Given the description of an element on the screen output the (x, y) to click on. 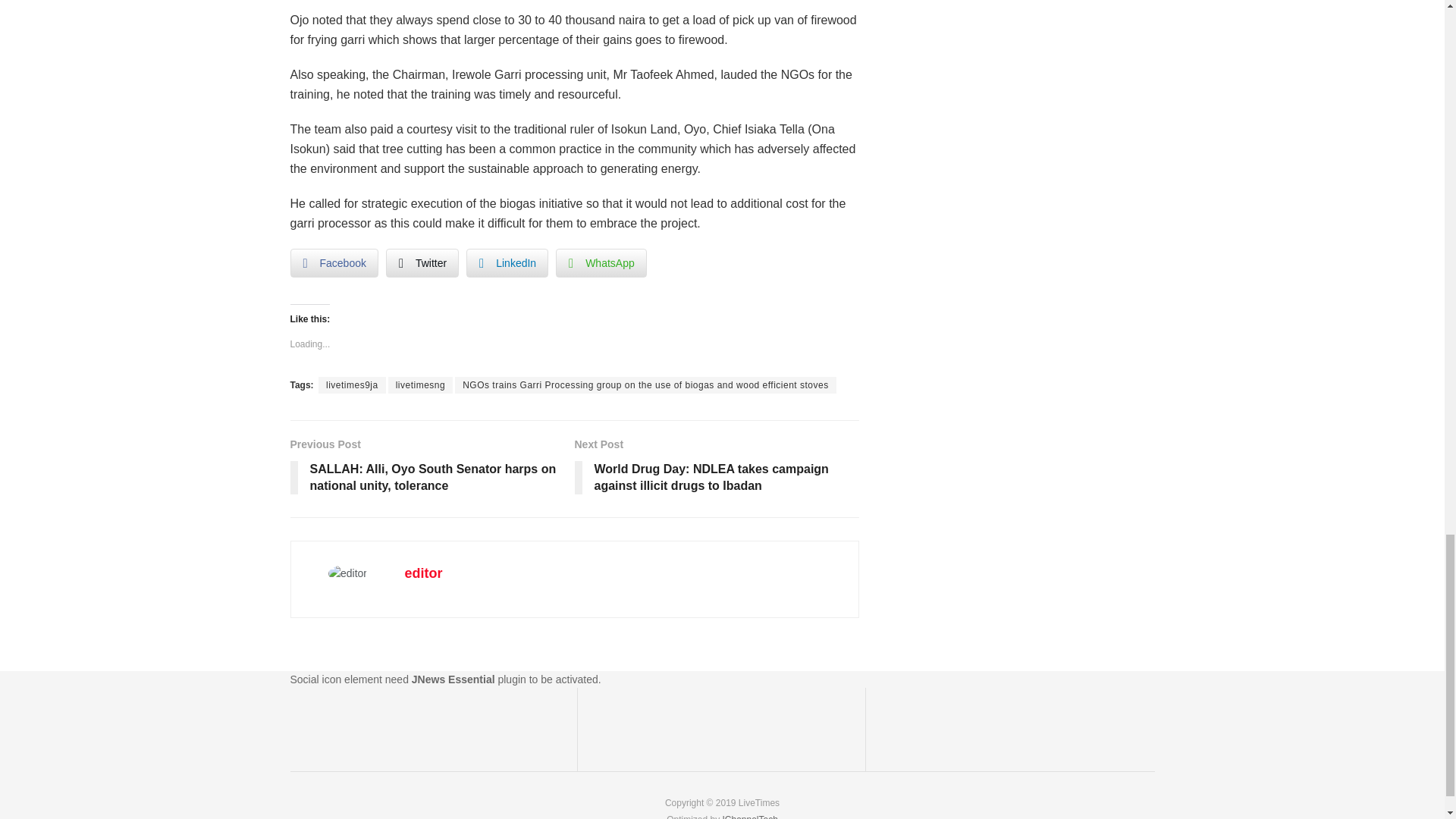
livetimes9ja (351, 384)
WhatsApp (601, 262)
LinkedIn (506, 262)
Facebook (333, 262)
livetimesng (420, 384)
Twitter (421, 262)
